Given the description of an element on the screen output the (x, y) to click on. 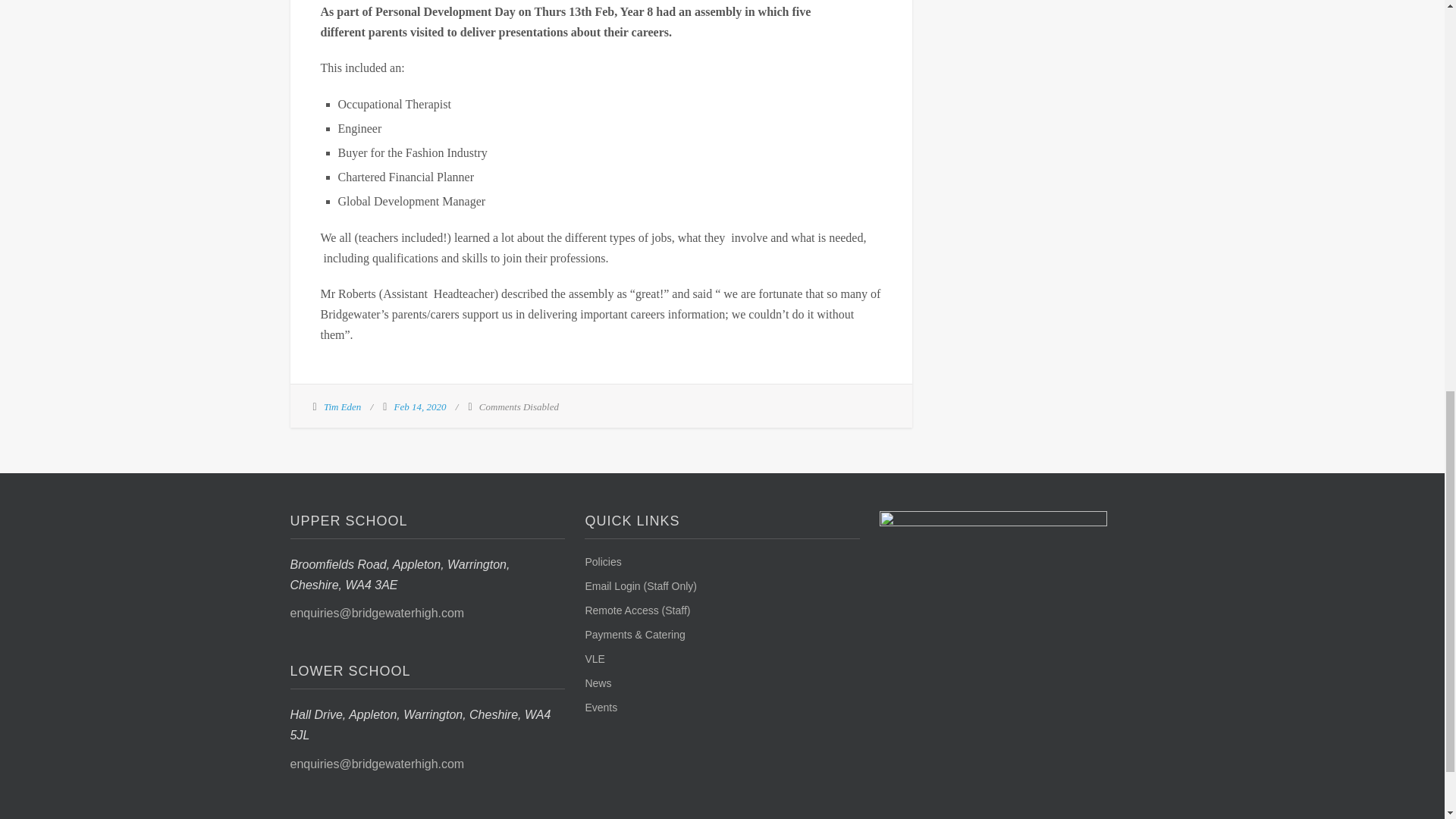
Friday, February, 2020, 3:53 pm (420, 405)
Tim Eden (342, 405)
